Given the description of an element on the screen output the (x, y) to click on. 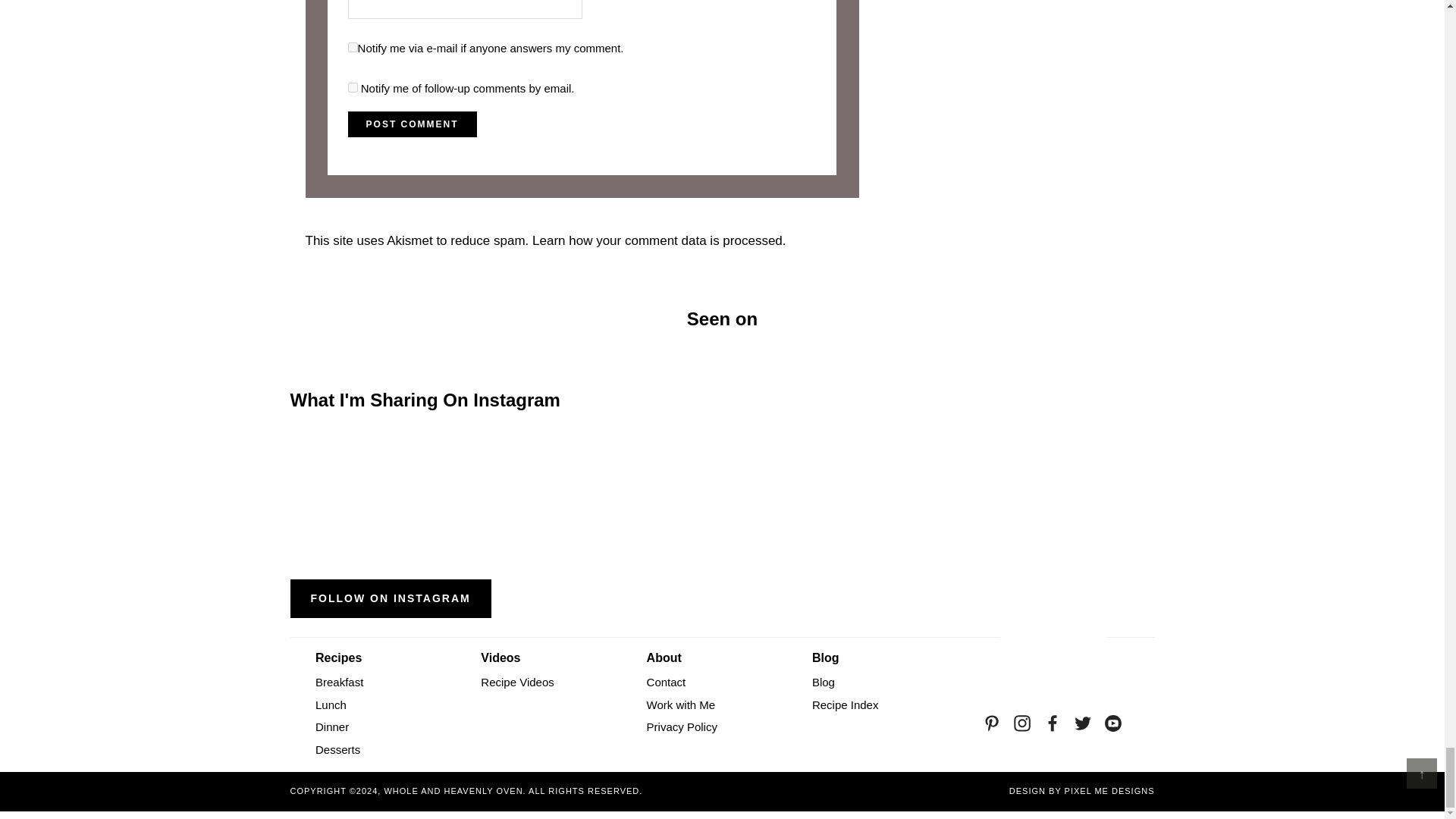
subscribe (352, 87)
on (352, 47)
Post Comment (412, 124)
